Given the description of an element on the screen output the (x, y) to click on. 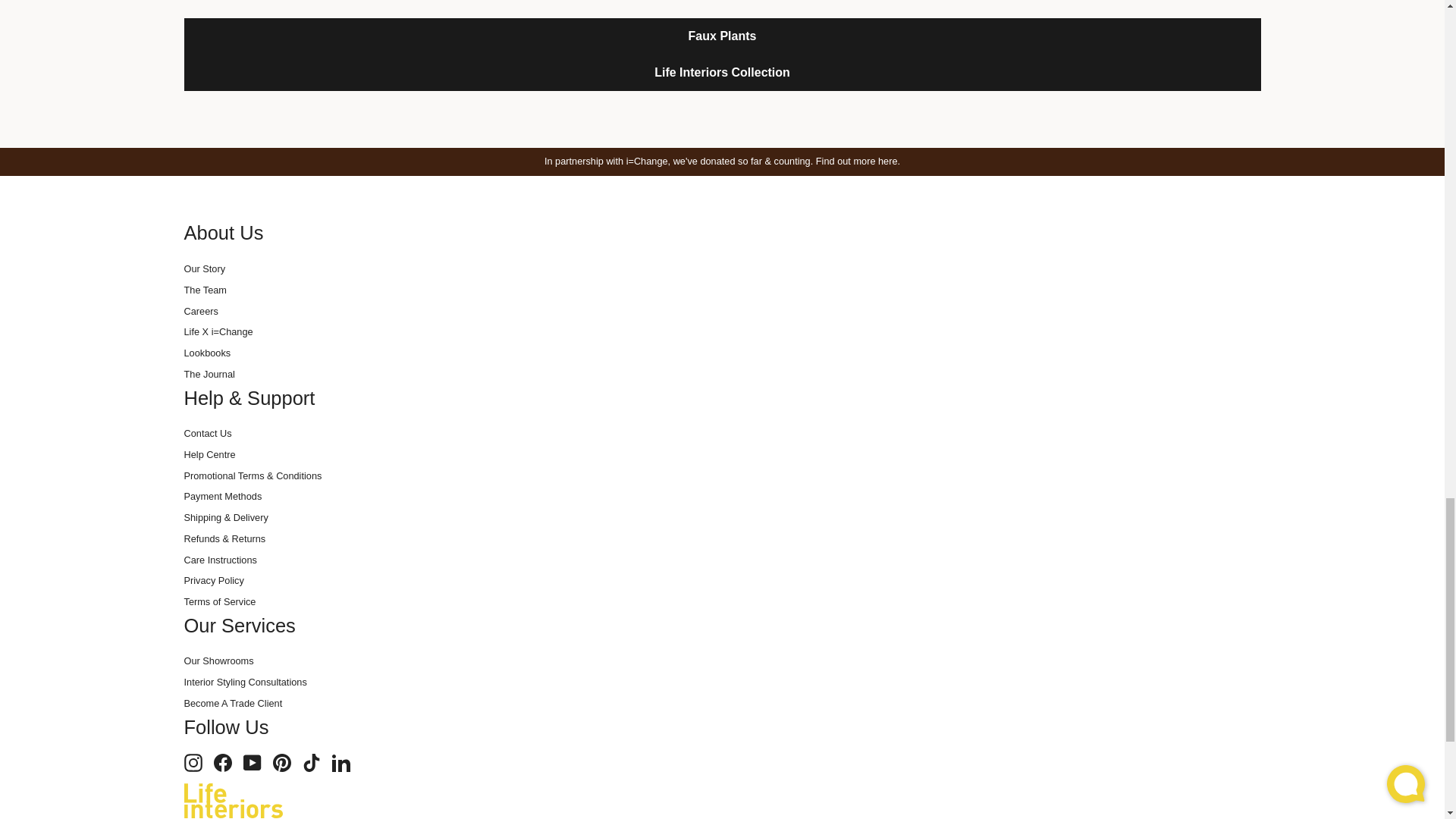
Life Interiors on Pinterest (282, 762)
Life Interiors on Instagram (192, 762)
Life Interiors on Facebook (222, 762)
Life Interiors on TikTok (310, 762)
Life Interiors on YouTube (251, 762)
instagram (192, 762)
Life Interiors on LinkedIn (340, 762)
